Given the description of an element on the screen output the (x, y) to click on. 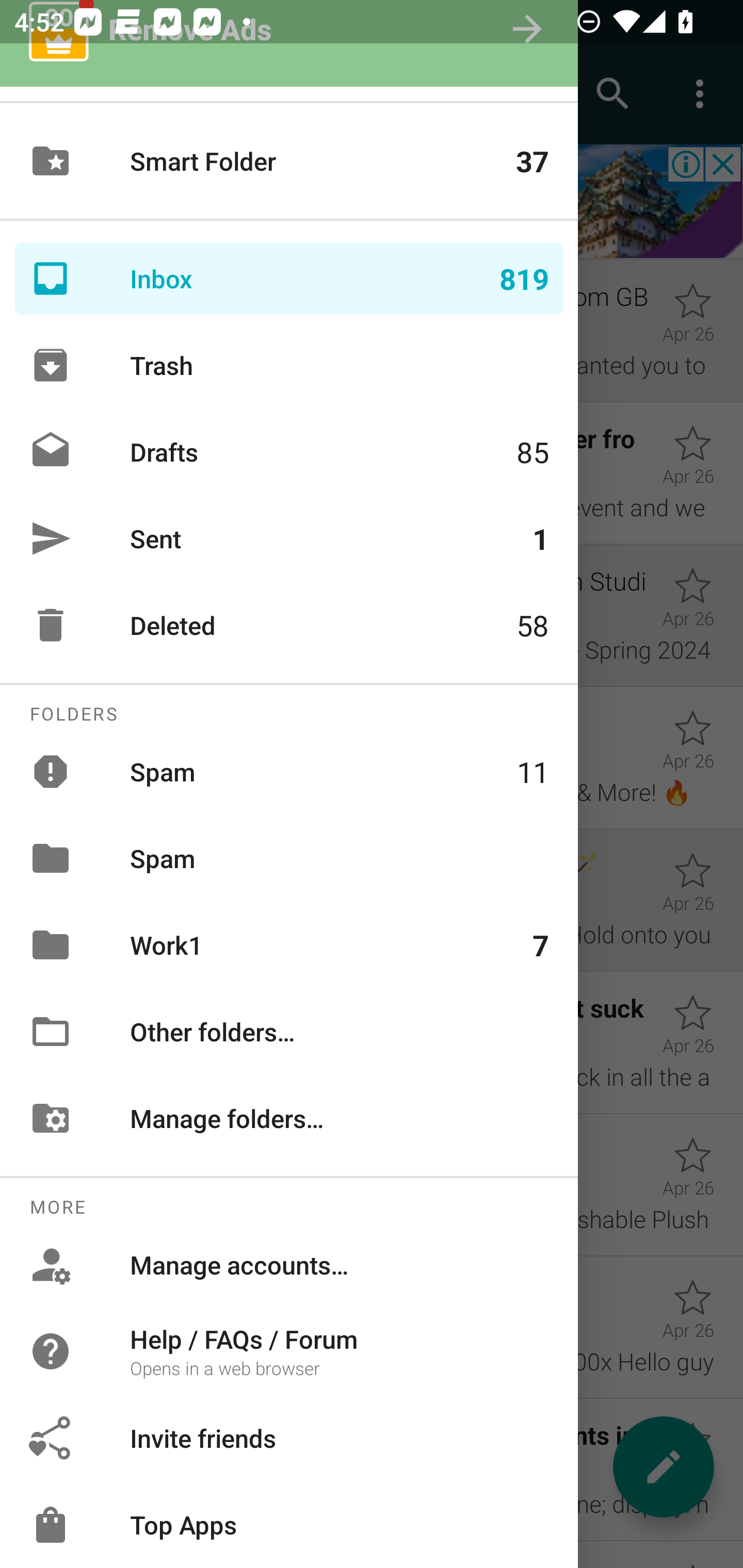
Smart Folder 37 (289, 160)
Inbox 819 (289, 278)
Trash (289, 365)
Drafts 85 (289, 452)
Sent 1 (289, 538)
Deleted 58 (289, 624)
Spam 11 (289, 771)
Spam (289, 858)
Work1 7 (289, 944)
Other folders… (289, 1031)
Manage folders… (289, 1118)
Manage accounts… (289, 1264)
Help / FAQs / Forum Opens in a web browser (289, 1350)
Invite friends (289, 1437)
Top Apps (289, 1524)
